Given the description of an element on the screen output the (x, y) to click on. 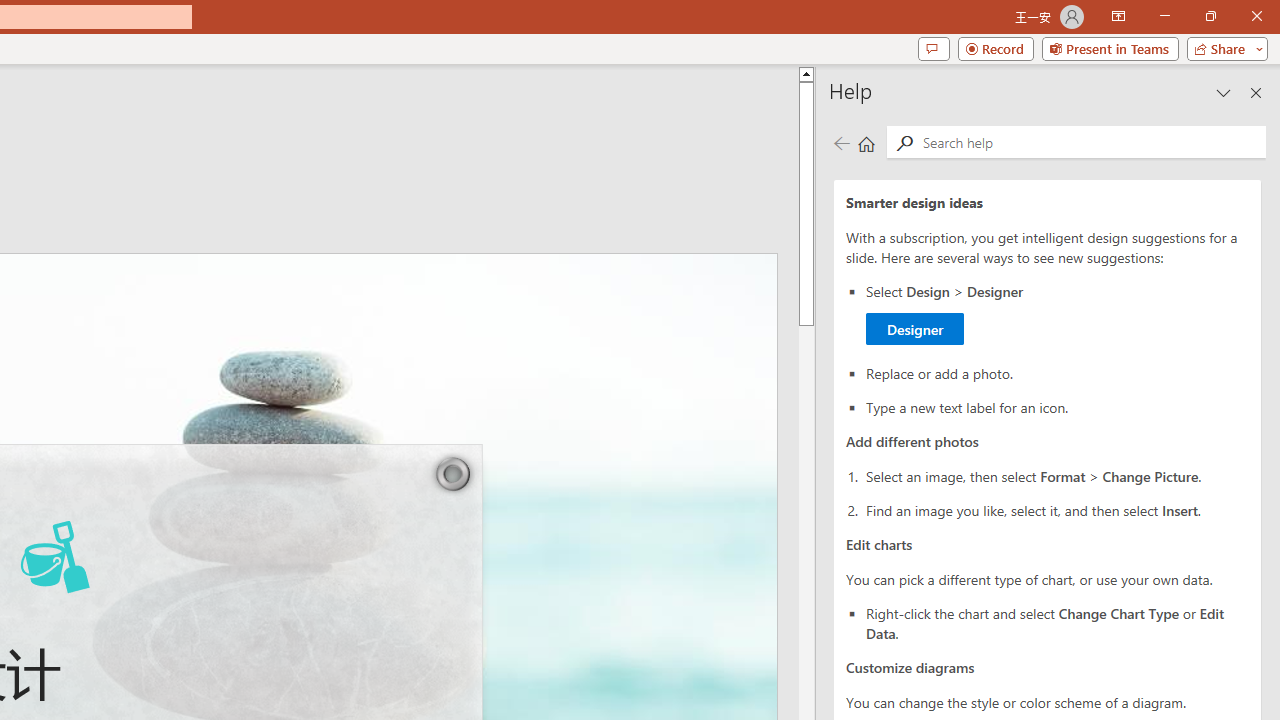
Restore Down (1210, 16)
Search (1089, 141)
Find an image you like, select it, and then select Insert. (1057, 509)
Replace or add a photo. (1057, 314)
